Given the description of an element on the screen output the (x, y) to click on. 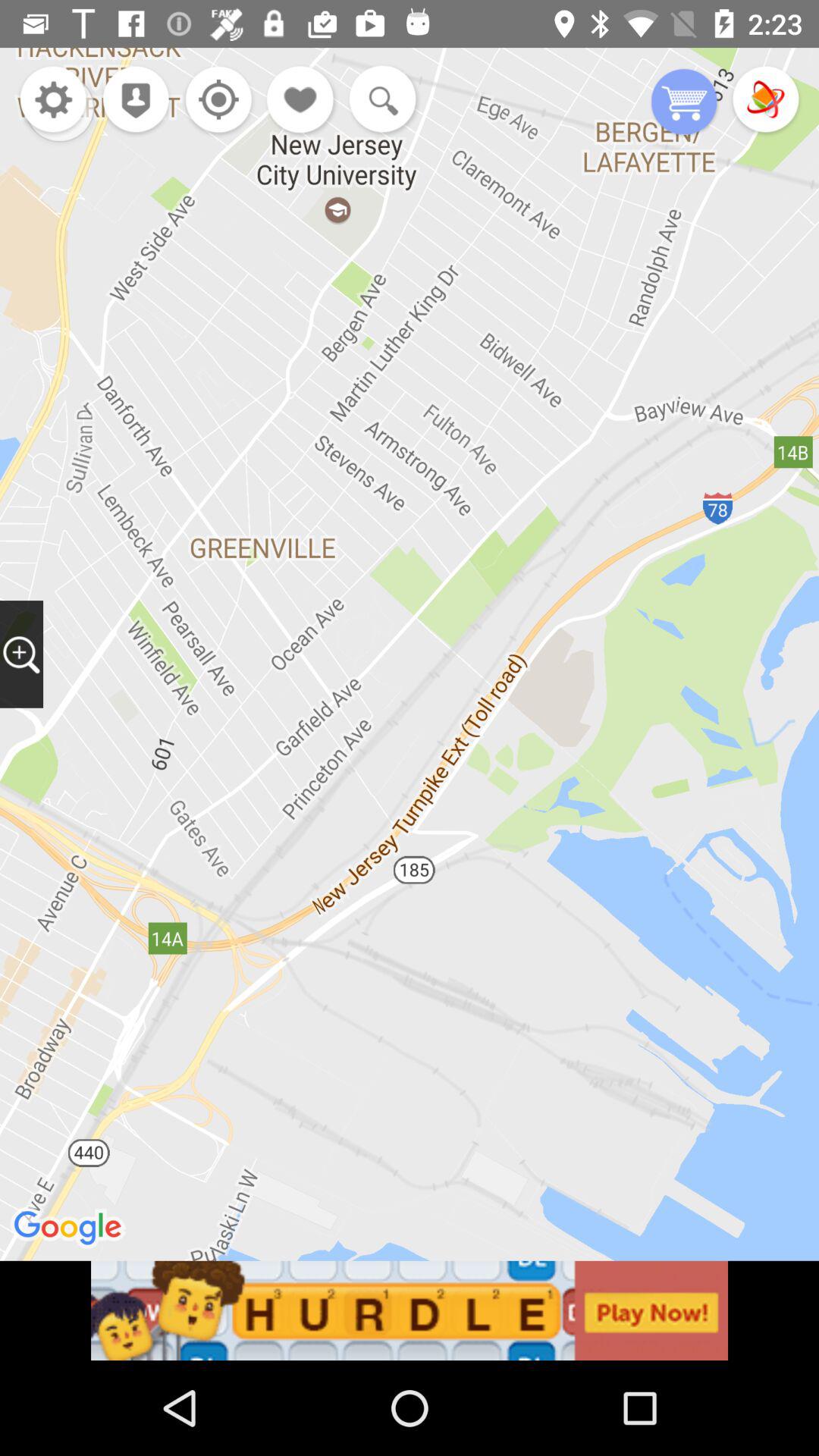
shopping cart (684, 102)
